Given the description of an element on the screen output the (x, y) to click on. 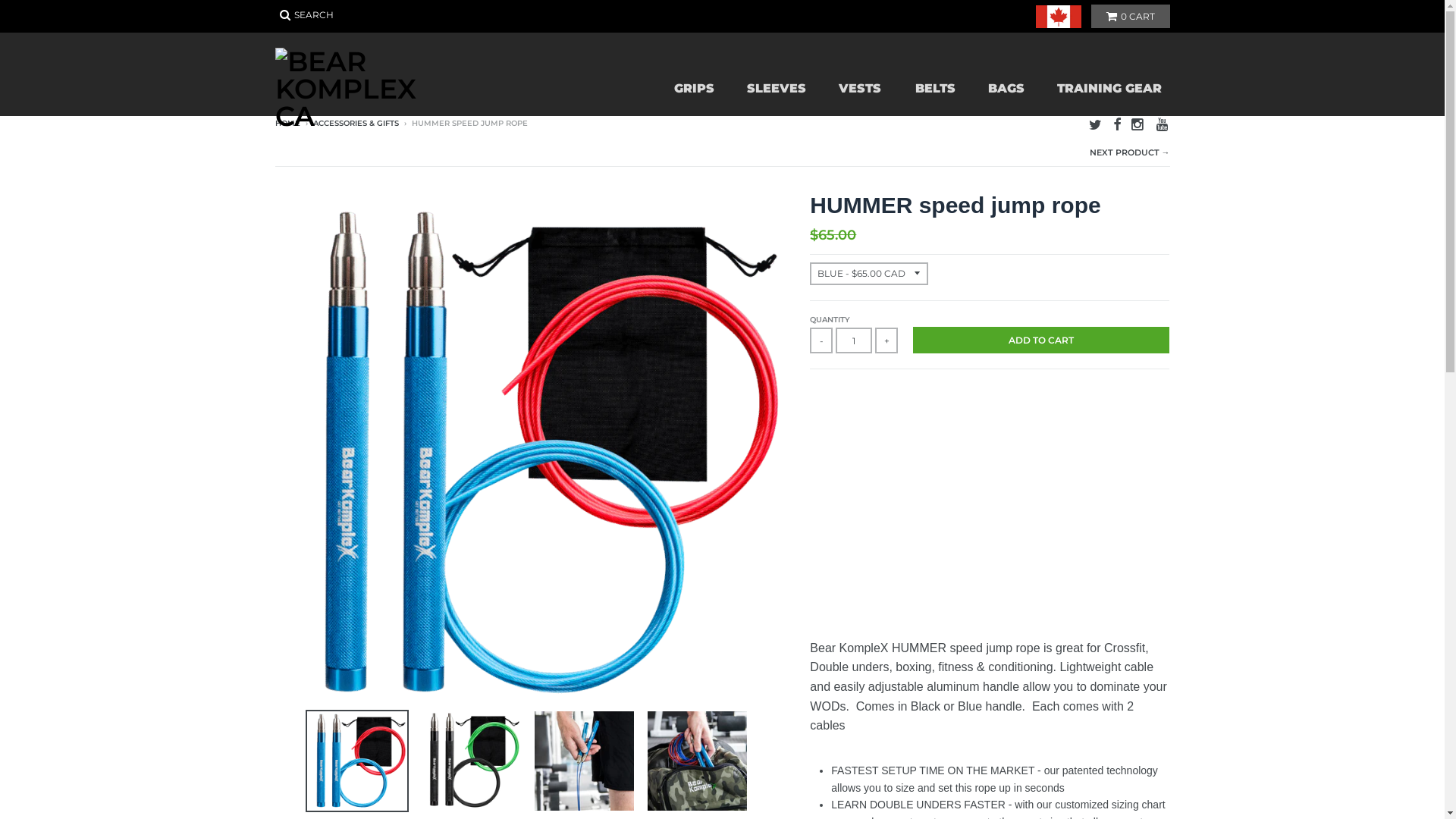
SLEEVES Element type: text (775, 88)
ACCESSORIES & GIFTS Element type: text (355, 123)
VESTS Element type: text (859, 88)
SEARCH Element type: text (305, 14)
Bear KompleX CA on Instagram Element type: hover (1138, 124)
BAGS Element type: text (1005, 88)
Bear KompleX CA on Youtube Element type: hover (1162, 124)
BELTS Element type: text (934, 88)
ADD TO CART Element type: text (1041, 339)
Bear KompleX CA on Facebook Element type: hover (1116, 124)
TRAINING GEAR Element type: text (1107, 88)
GRIPS Element type: text (693, 88)
- Element type: text (820, 340)
Bear KompleX CA on Twitter Element type: hover (1094, 124)
0 CART Element type: text (1129, 16)
+ Element type: text (886, 340)
HOME Element type: text (286, 123)
